Given the description of an element on the screen output the (x, y) to click on. 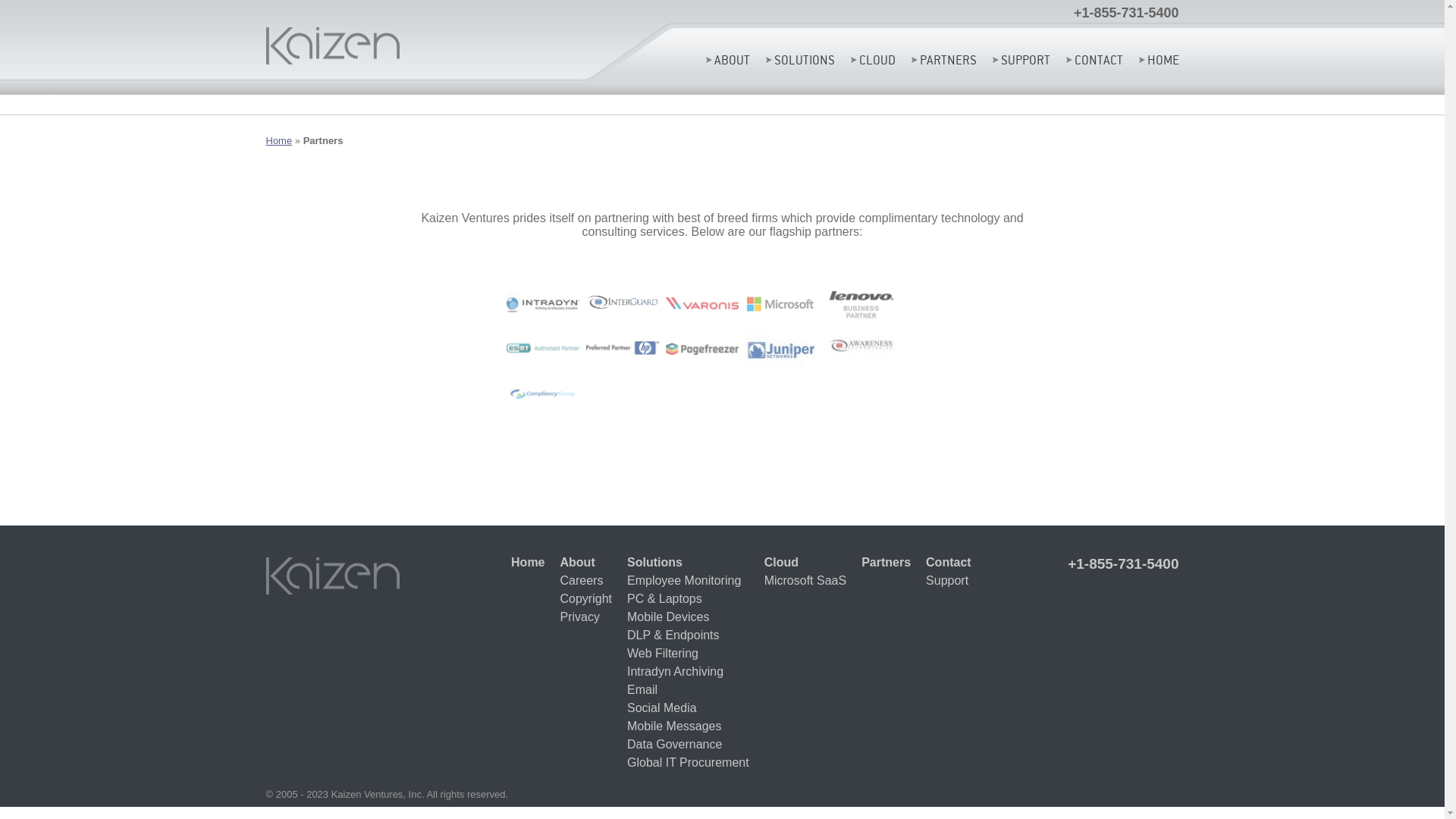
Global IT Procurement Element type: text (688, 762)
DLP & Endpoints Element type: text (688, 635)
SOLUTIONS Element type: text (799, 59)
Cloud Element type: text (805, 562)
Careers Element type: text (585, 580)
Partners Element type: text (885, 562)
Social Media Element type: text (688, 708)
Email Element type: text (688, 689)
Privacy Element type: text (585, 617)
ABOUT Element type: text (727, 59)
Mobile Messages Element type: text (688, 726)
CONTACT Element type: text (1094, 59)
PC & Laptops Element type: text (688, 598)
Employee Monitoring Element type: text (688, 580)
SUPPORT Element type: text (1020, 59)
Intradyn Archiving Element type: text (688, 671)
Web Filtering Element type: text (688, 653)
Solutions Element type: text (688, 562)
Home Element type: text (278, 140)
About Element type: text (585, 562)
Contact Element type: text (948, 562)
Mobile Devices Element type: text (688, 617)
HOME Element type: text (1159, 59)
Home Element type: text (527, 562)
Copyright Element type: text (585, 598)
Support Element type: text (948, 580)
Microsoft SaaS Element type: text (805, 580)
Data Governance Element type: text (688, 744)
PARTNERS Element type: text (943, 59)
CLOUD Element type: text (872, 59)
